Given the description of an element on the screen output the (x, y) to click on. 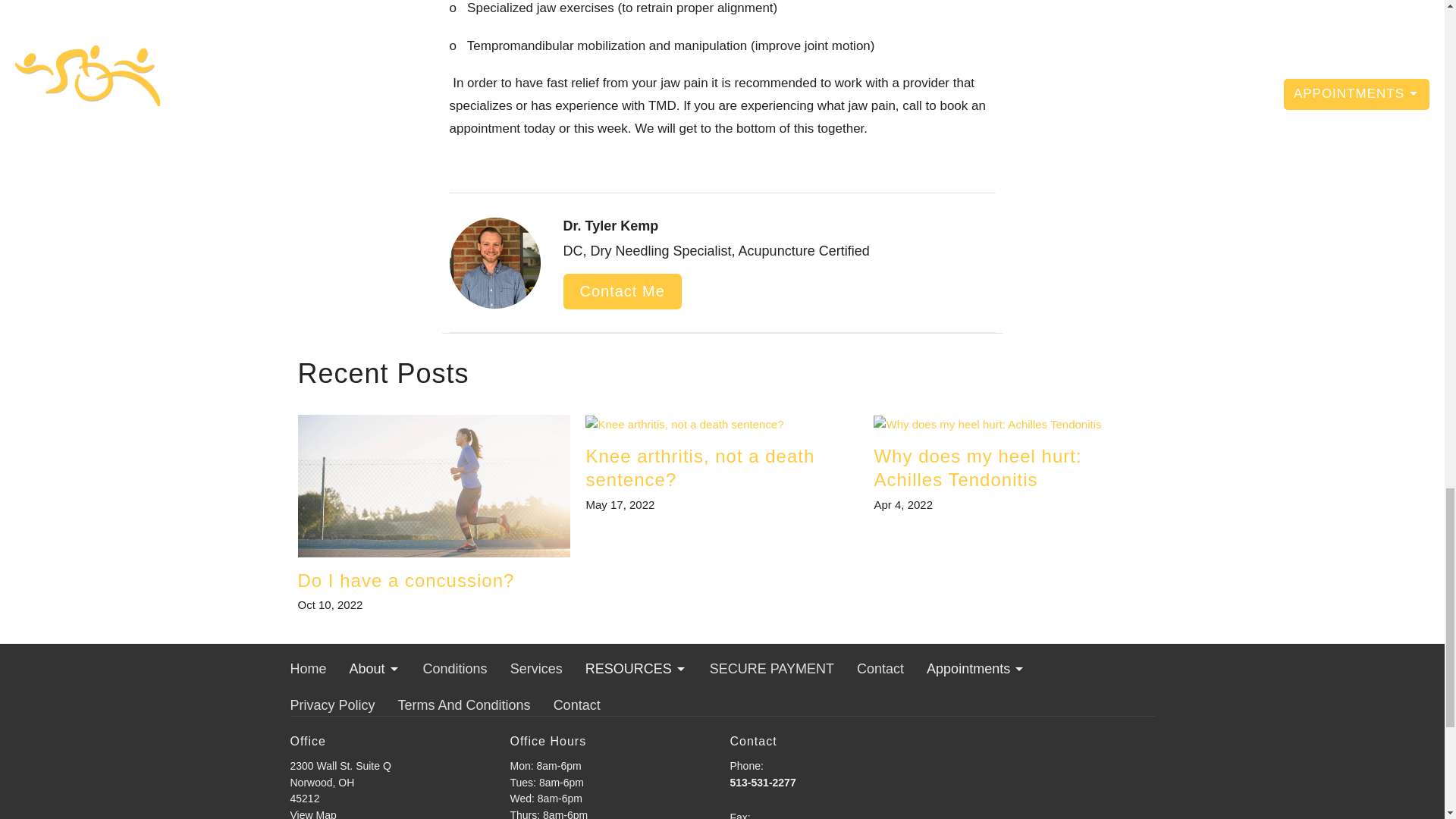
translation missing: en.ui.fax (1010, 463)
RESOURCES (737, 815)
Appointments (636, 669)
Home (975, 669)
Conditions (307, 669)
Contact (433, 513)
About (455, 669)
Services (880, 669)
